Given the description of an element on the screen output the (x, y) to click on. 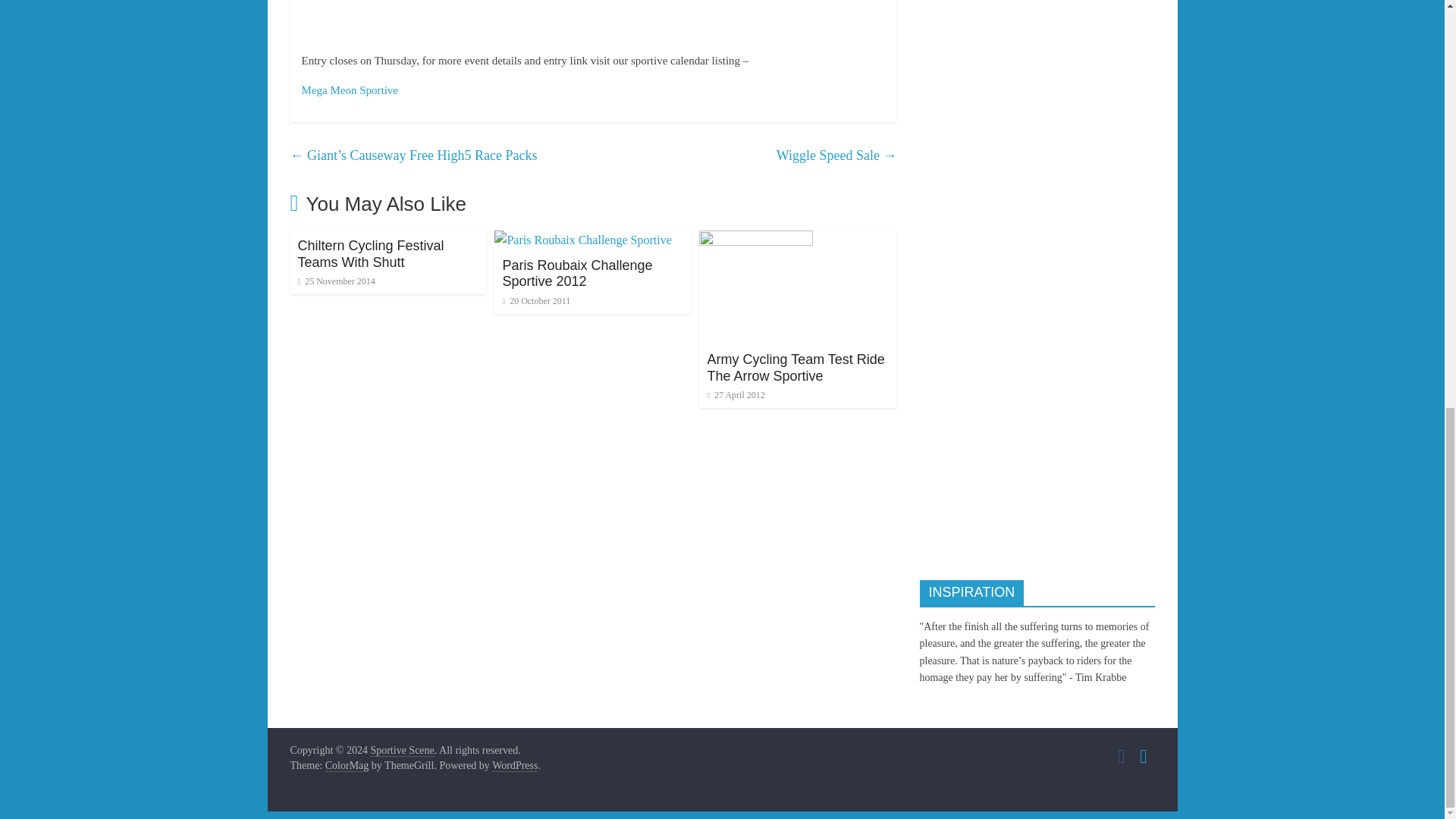
Chiltern Cycling Festival Teams With Shutt (370, 254)
20 October 2011 (536, 300)
25 November 2014 (335, 281)
Mega Meon Sportive (349, 90)
Paris Roubaix Challenge Sportive 2012 (577, 273)
